Given the description of an element on the screen output the (x, y) to click on. 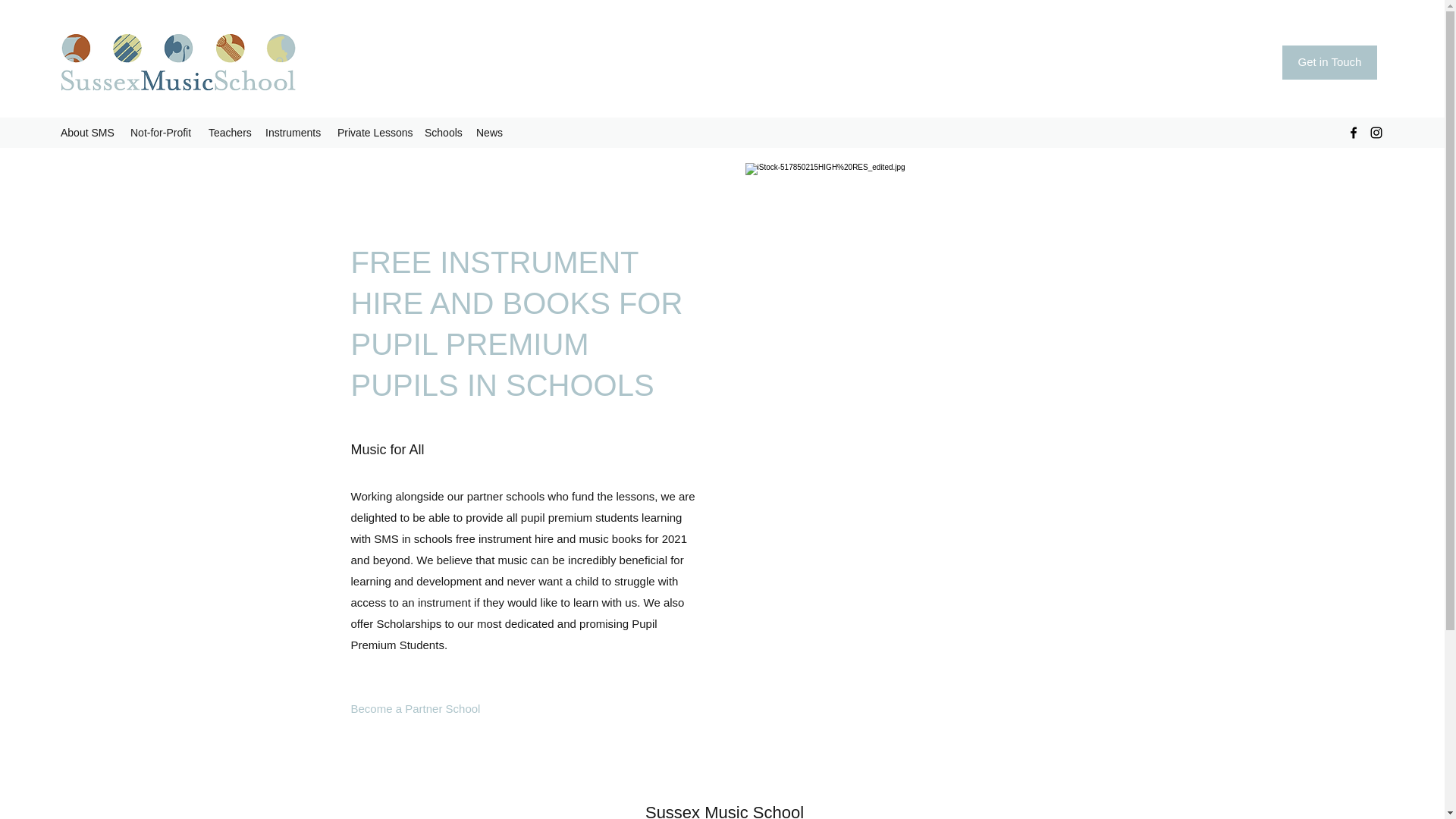
Private Lessons (373, 132)
Schools (442, 132)
Teachers (228, 132)
Instruments (293, 132)
Get in Touch (1329, 62)
Not-for-Profit (161, 132)
About SMS (87, 132)
